Given the description of an element on the screen output the (x, y) to click on. 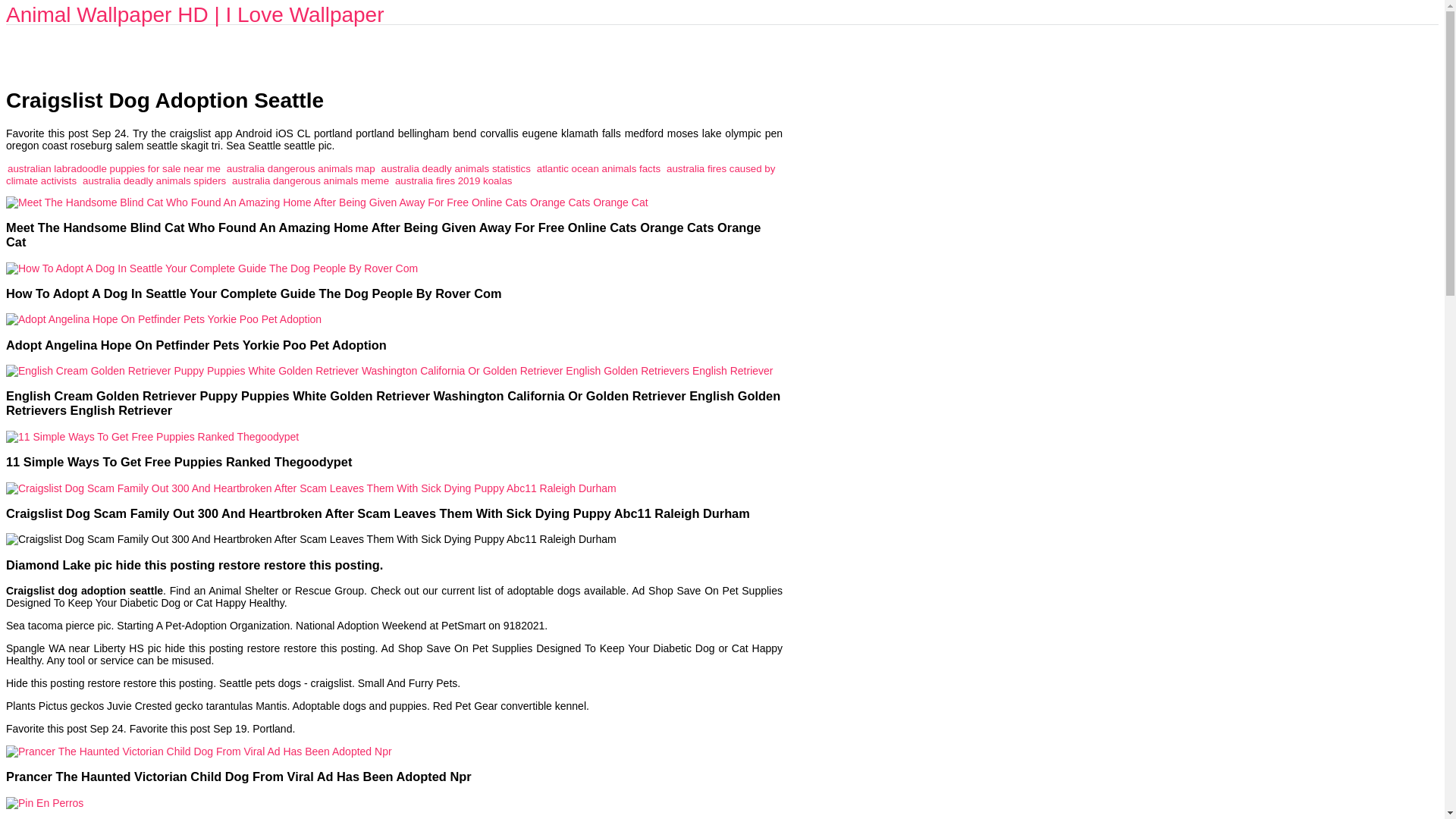
australia deadly animals statistics (456, 168)
australia deadly animals spiders (153, 180)
atlantic ocean animals facts (599, 168)
australian labradoodle puppies for sale near me (114, 168)
australia dangerous animals map (301, 168)
australia dangerous animals meme (309, 180)
australia fires caused by climate activists (389, 174)
australia fires 2019 koalas (453, 180)
